Given the description of an element on the screen output the (x, y) to click on. 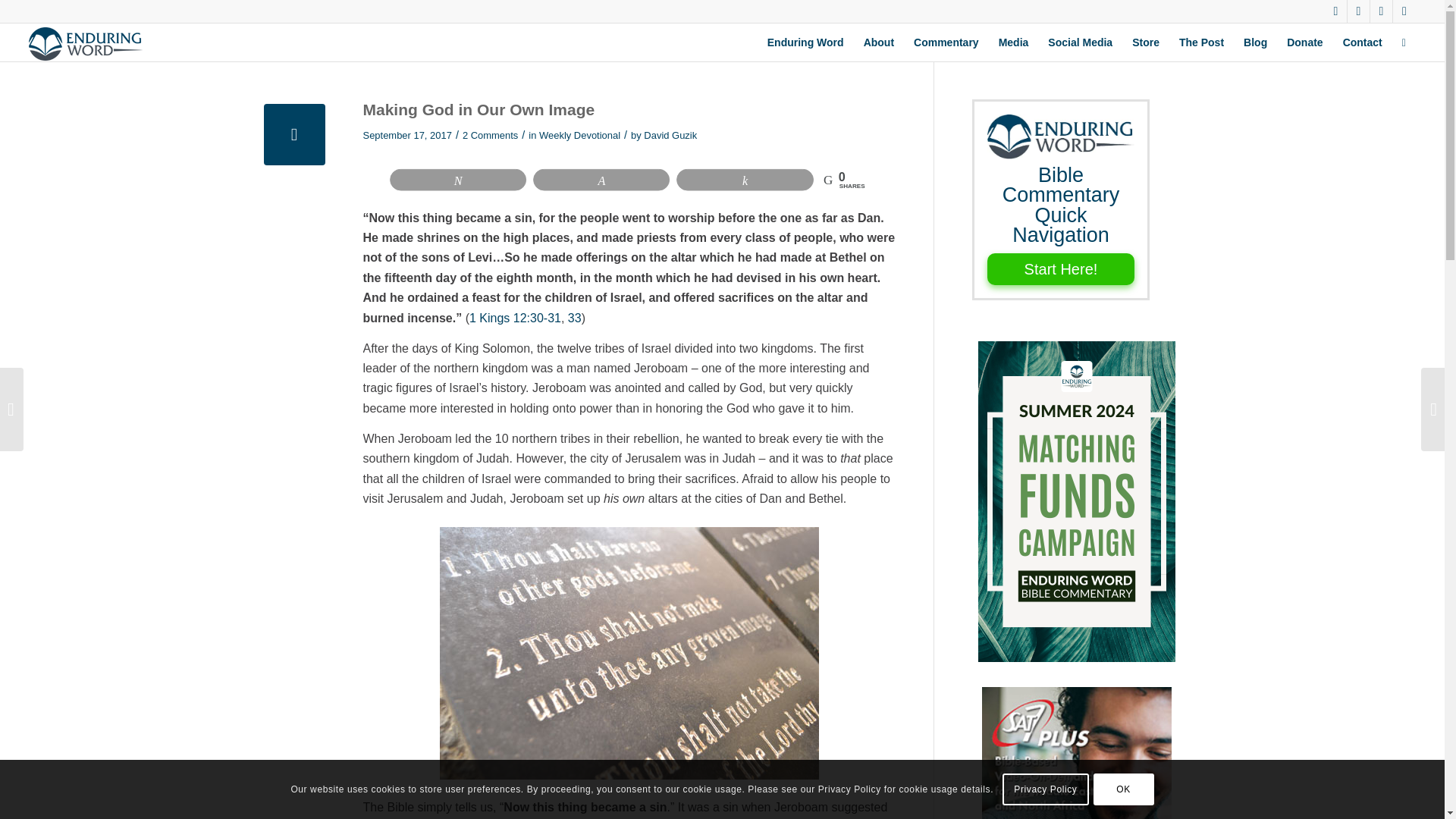
Posts by David Guzik (670, 134)
Instagram (1380, 11)
Youtube (1404, 11)
no-other-gods-500 (293, 134)
Enduring Word (805, 42)
Commentary (946, 42)
Media (1013, 42)
no-other-gods-500 - Enduring Word (628, 653)
Twitter (1335, 11)
About (878, 42)
